Given the description of an element on the screen output the (x, y) to click on. 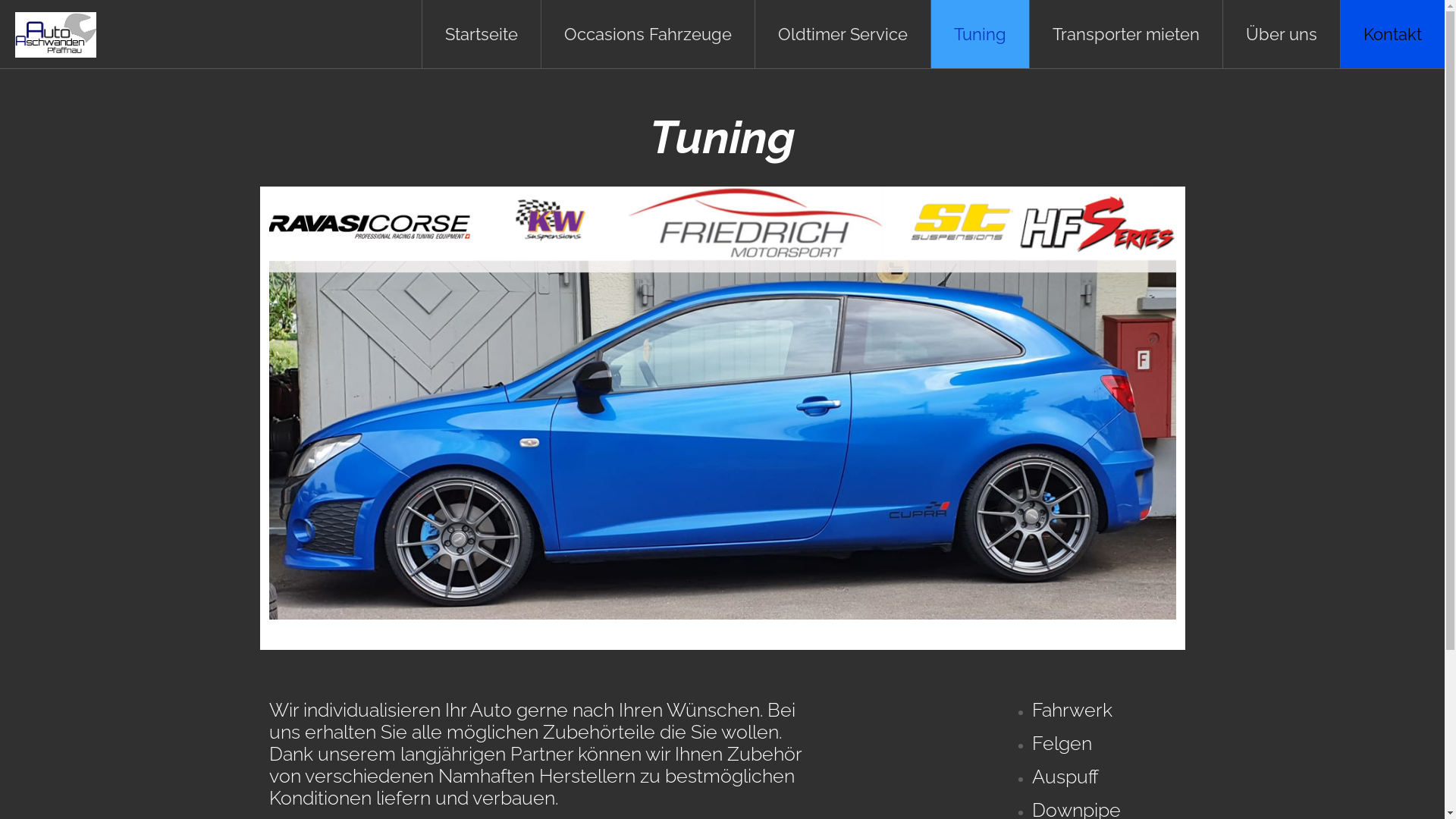
Transporter mieten Element type: text (1126, 34)
Occasions Fahrzeuge Element type: text (648, 34)
Kontakt Element type: text (1391, 34)
Auto Aschwanden Pfaffnau Element type: hover (55, 34)
Tuning Element type: text (980, 34)
Oldtimer Service Element type: text (843, 34)
Startseite Element type: text (481, 34)
